Given the description of an element on the screen output the (x, y) to click on. 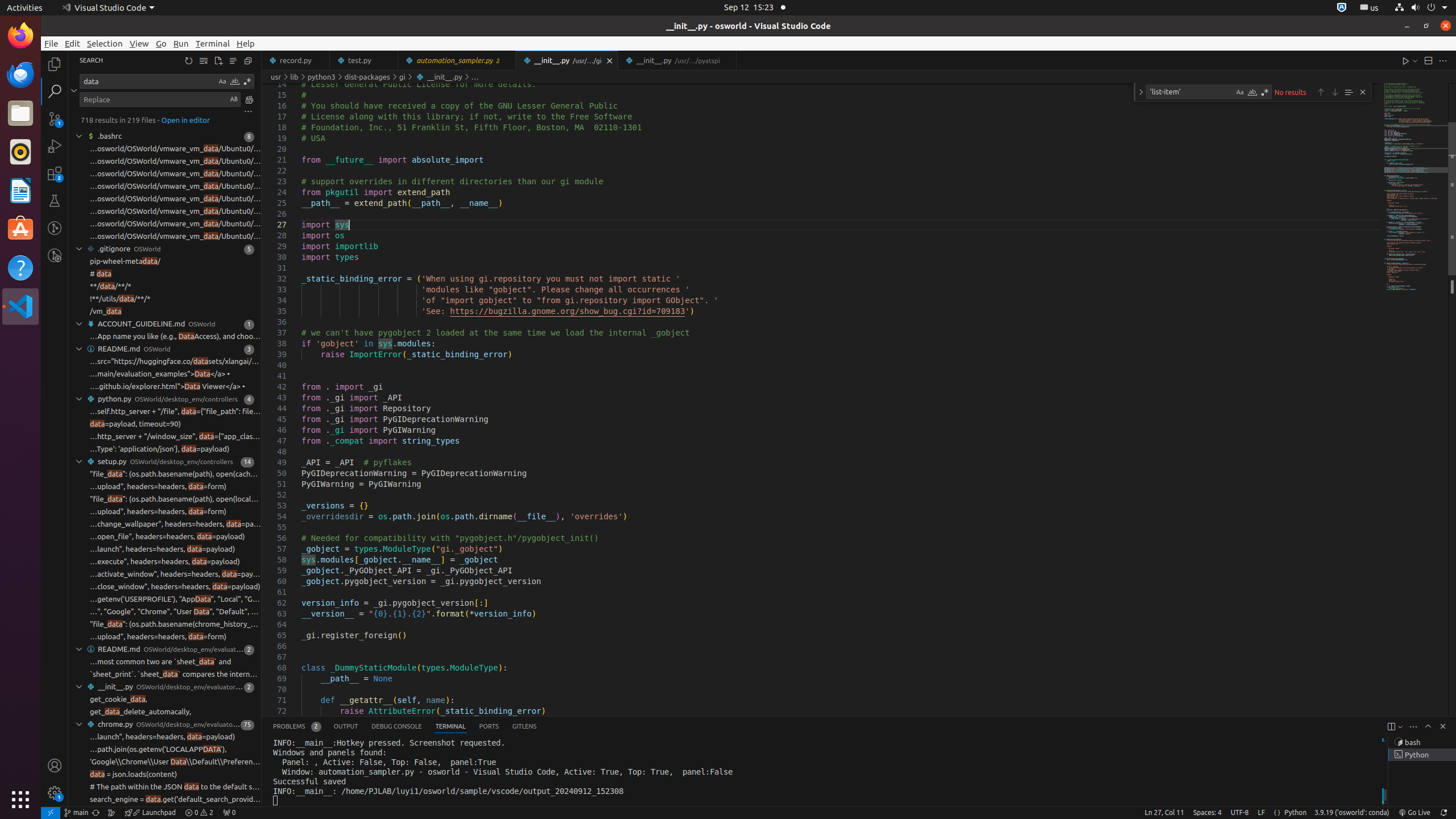
Run or Debug... Element type: push-button (1414, 60)
Edit Element type: push-button (72, 43)
…close_window", headers=headers, data=payload) Element type: link (174, 586)
`sheet_print`. `sheet_data` compares the internal cell values through pandoc, Element type: link (175, 673)
